Given the description of an element on the screen output the (x, y) to click on. 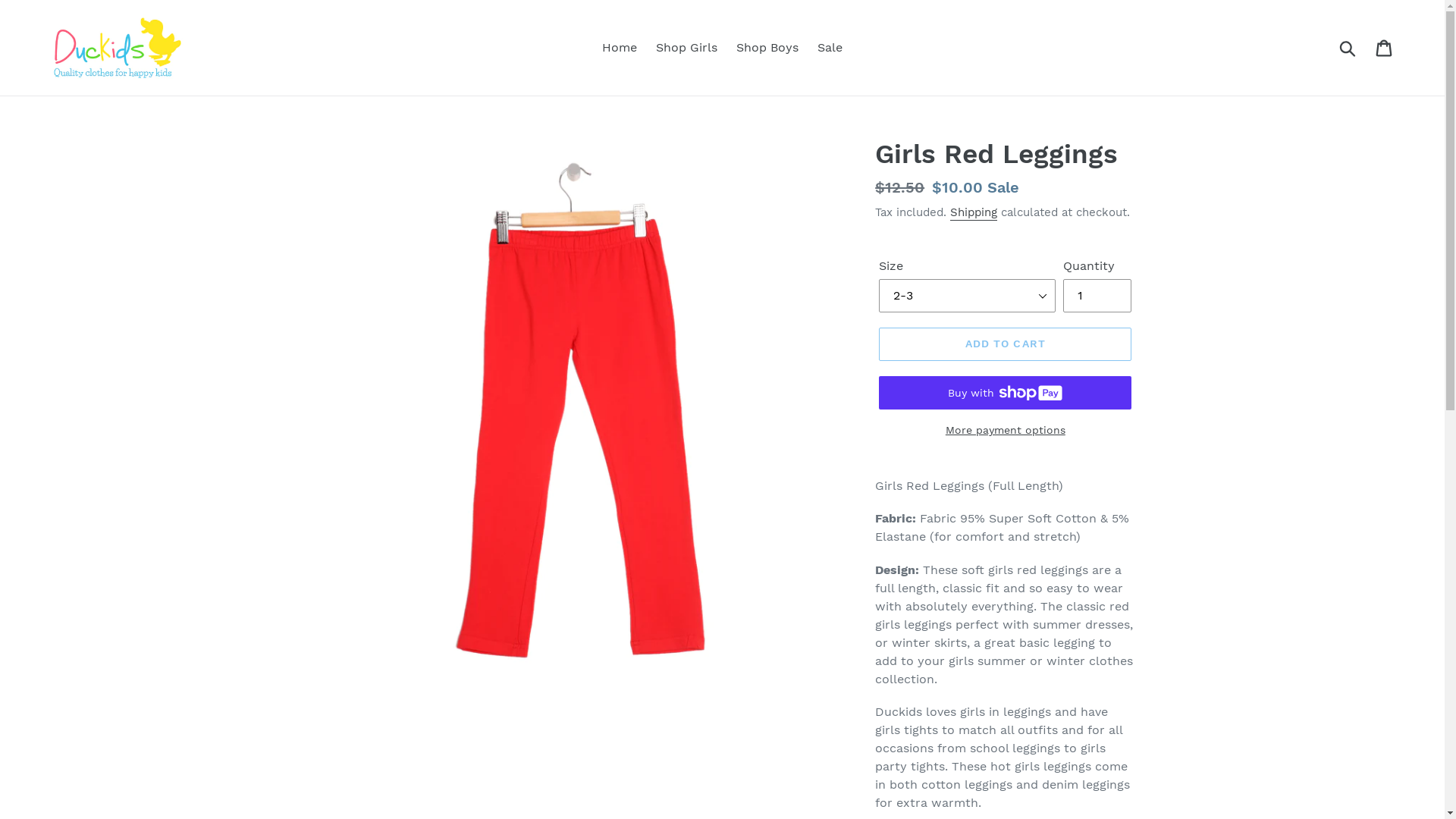
Shop Boys Element type: text (767, 47)
Sale Element type: text (829, 47)
More payment options Element type: text (1004, 430)
Shipping Element type: text (973, 211)
Cart Element type: text (1384, 48)
Shop Girls Element type: text (686, 47)
ADD TO CART Element type: text (1004, 343)
Home Element type: text (619, 47)
Submit Element type: text (1348, 47)
